Given the description of an element on the screen output the (x, y) to click on. 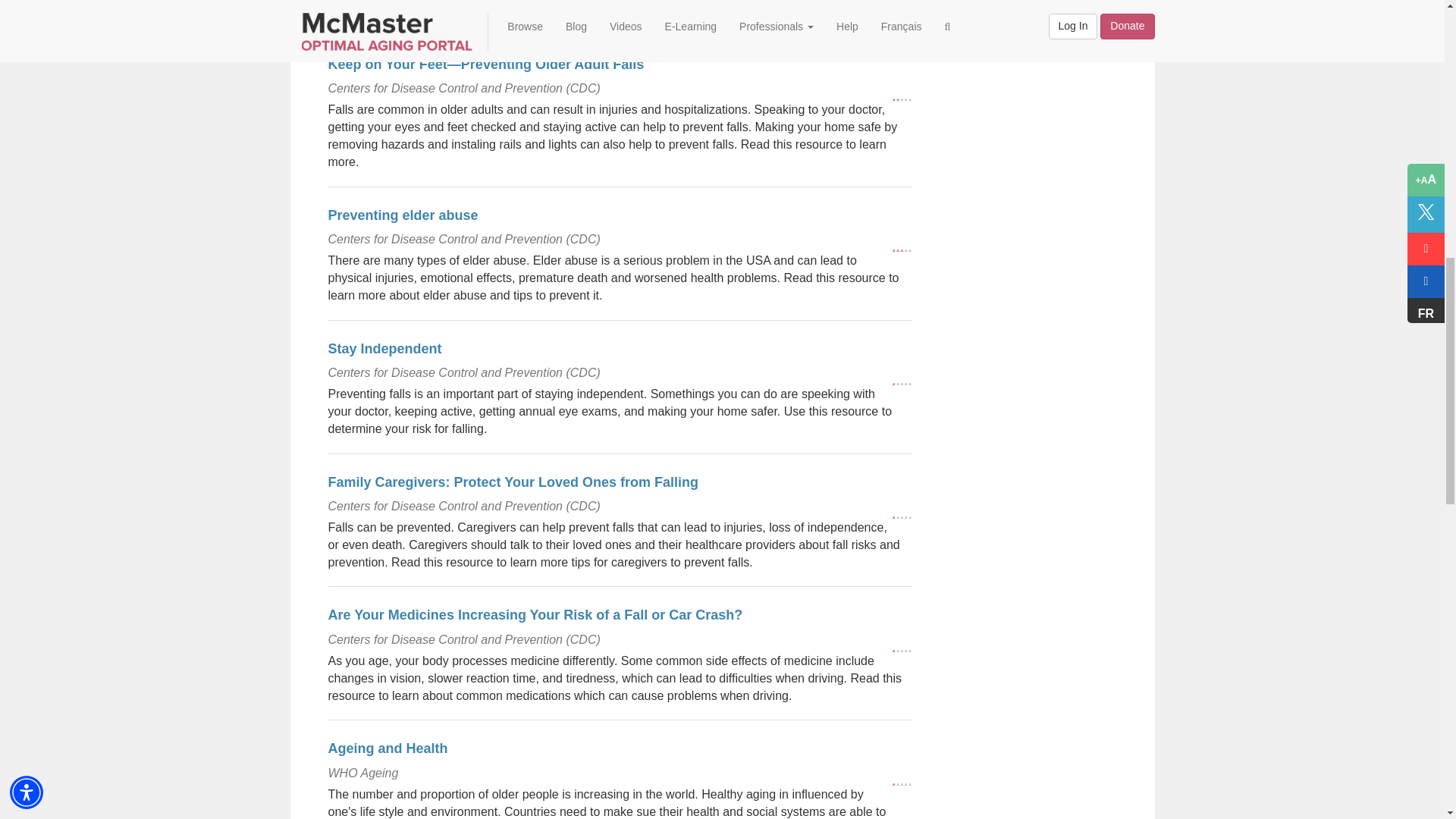
Preventing elder abuse (402, 215)
Ageing and Health (386, 748)
Stay Independent (384, 348)
Family Caregivers: Protect Your Loved Ones from Falling (512, 482)
